Given the description of an element on the screen output the (x, y) to click on. 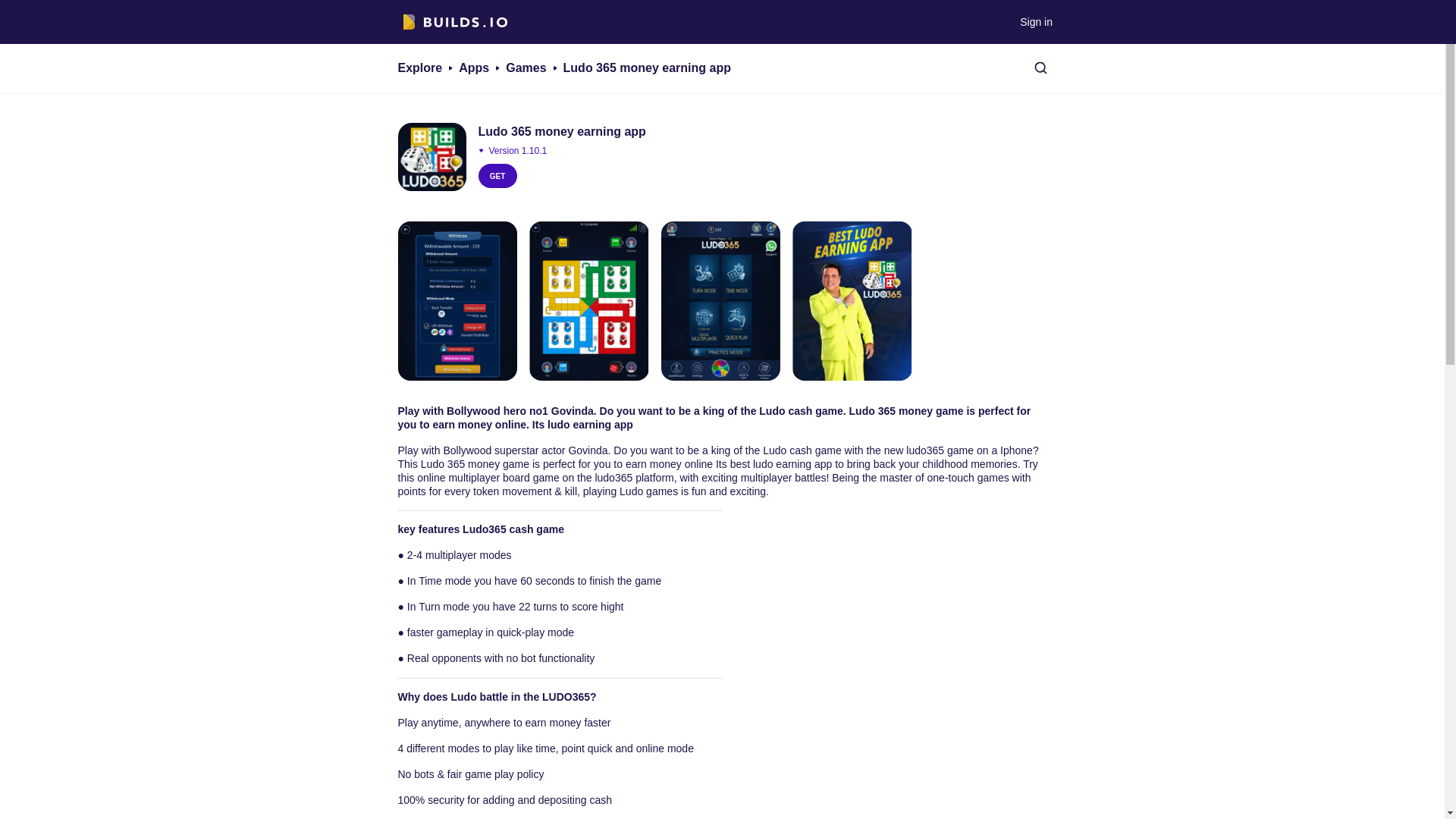
Games (525, 67)
Explore (419, 67)
Sign in (1036, 21)
GET (496, 175)
Apps (473, 67)
